Given the description of an element on the screen output the (x, y) to click on. 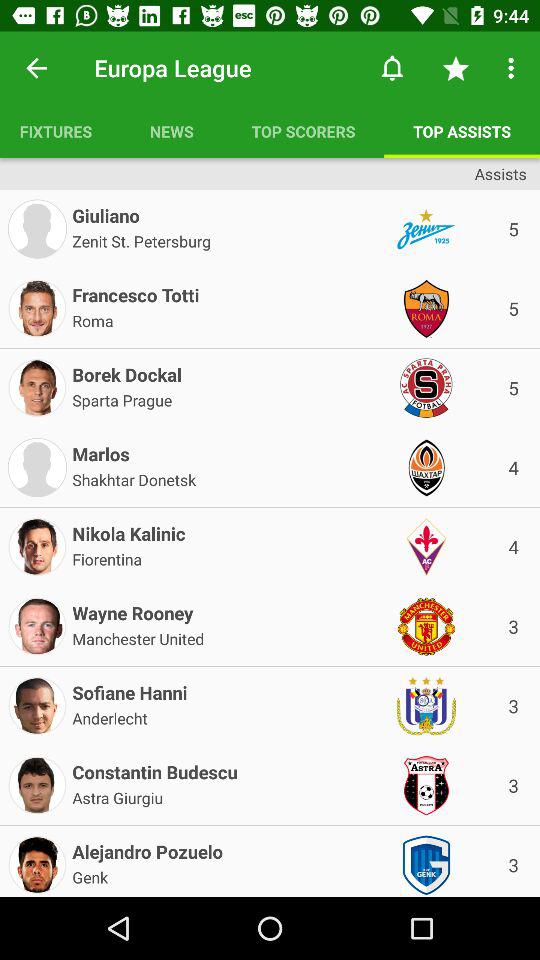
turn on the item next to top assists (303, 131)
